Given the description of an element on the screen output the (x, y) to click on. 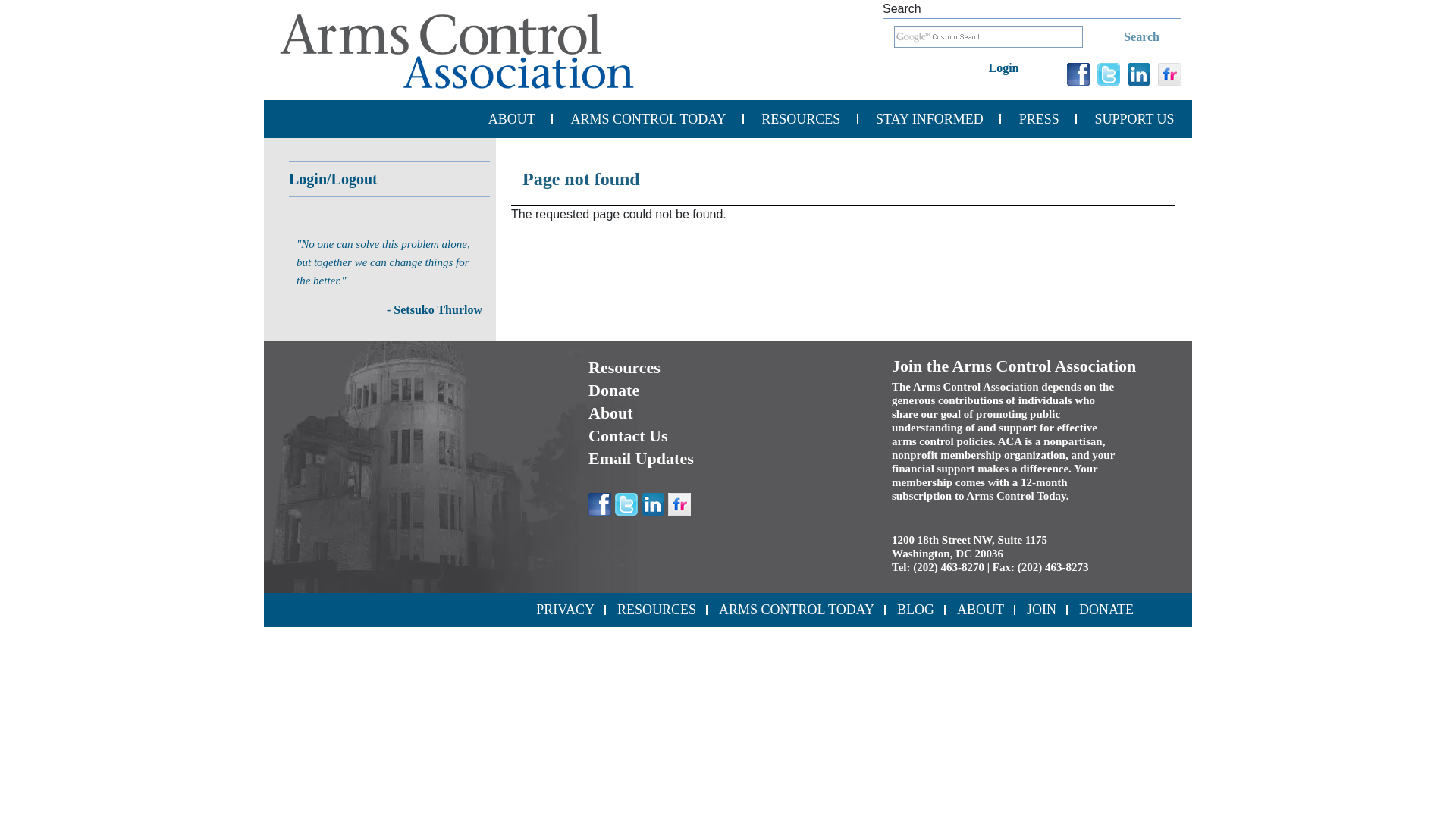
Home (457, 50)
Search (1121, 36)
STAY INFORMED (930, 118)
ABOUT (511, 118)
Log in (1009, 65)
Enter the terms you wish to search for. (988, 36)
ARMS CONTROL TODAY (648, 118)
RESOURCES (801, 118)
